Given the description of an element on the screen output the (x, y) to click on. 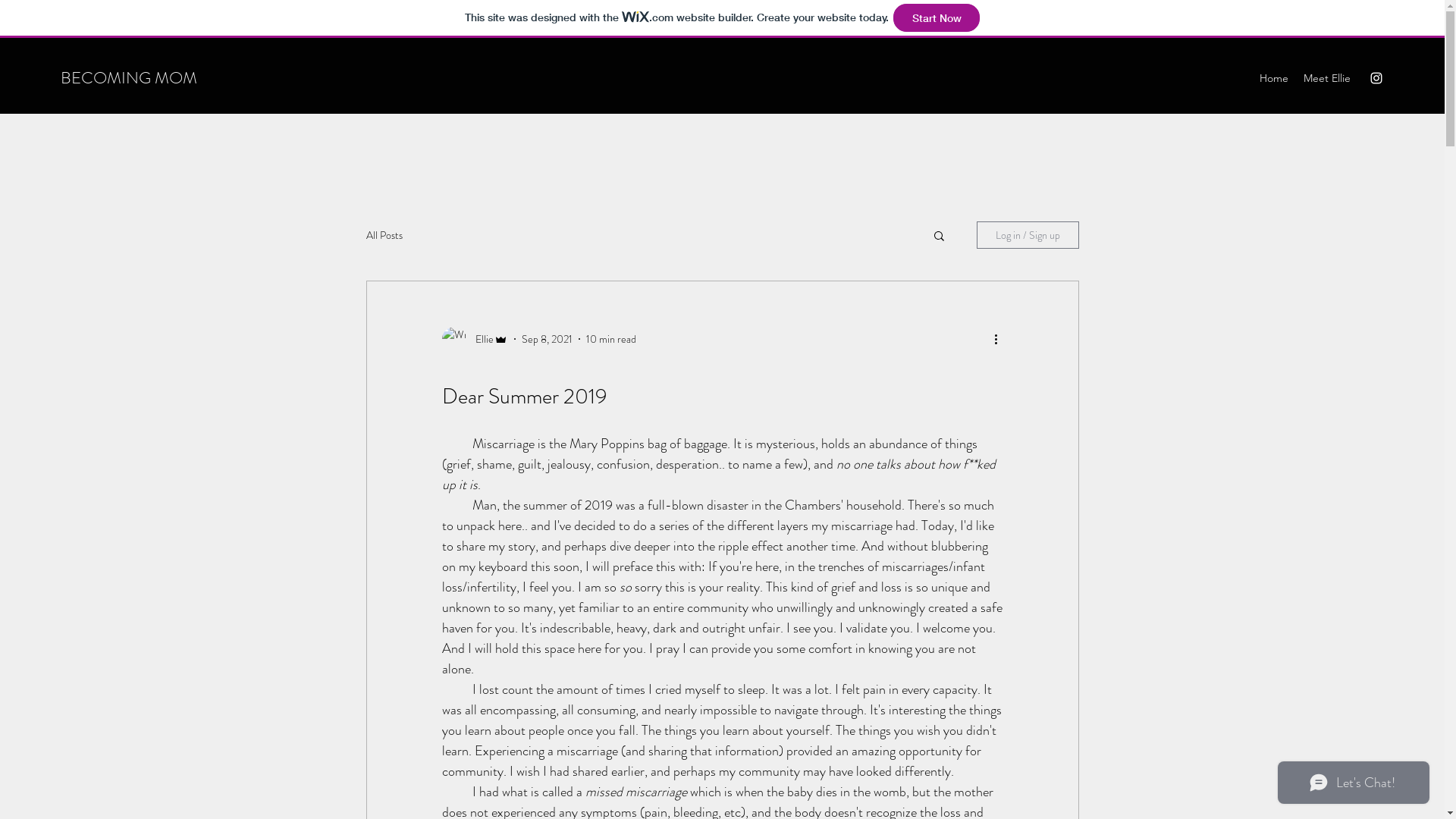
Home Element type: text (1273, 77)
Meet Ellie Element type: text (1326, 77)
All Posts Element type: text (383, 234)
Log in / Sign up Element type: text (1027, 234)
